Given the description of an element on the screen output the (x, y) to click on. 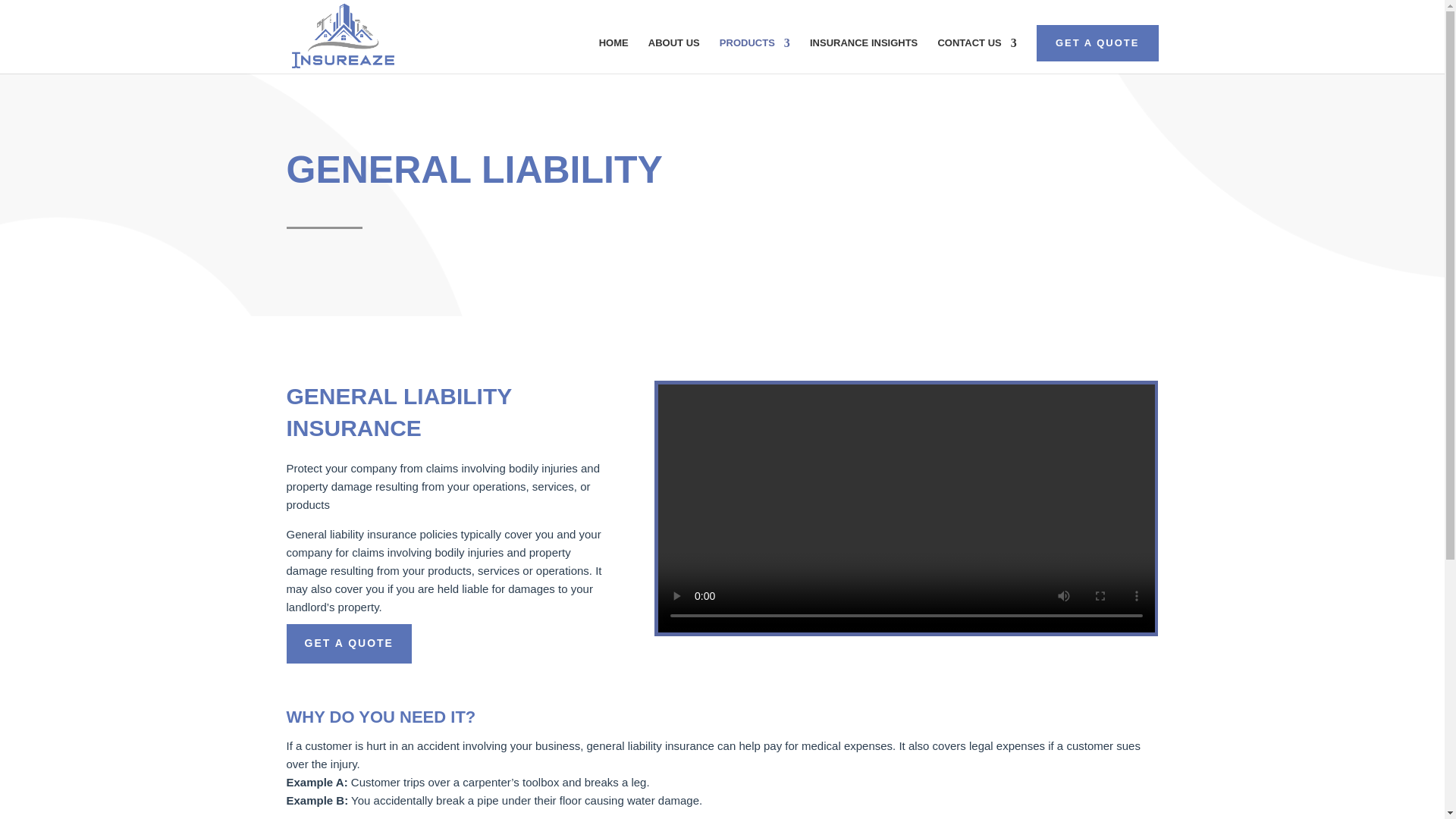
GET A QUOTE (349, 643)
GET A QUOTE (1097, 42)
PRODUCTS (754, 55)
ABOUT US (673, 55)
INSURANCE INSIGHTS (863, 55)
CONTACT US (976, 55)
